Given the description of an element on the screen output the (x, y) to click on. 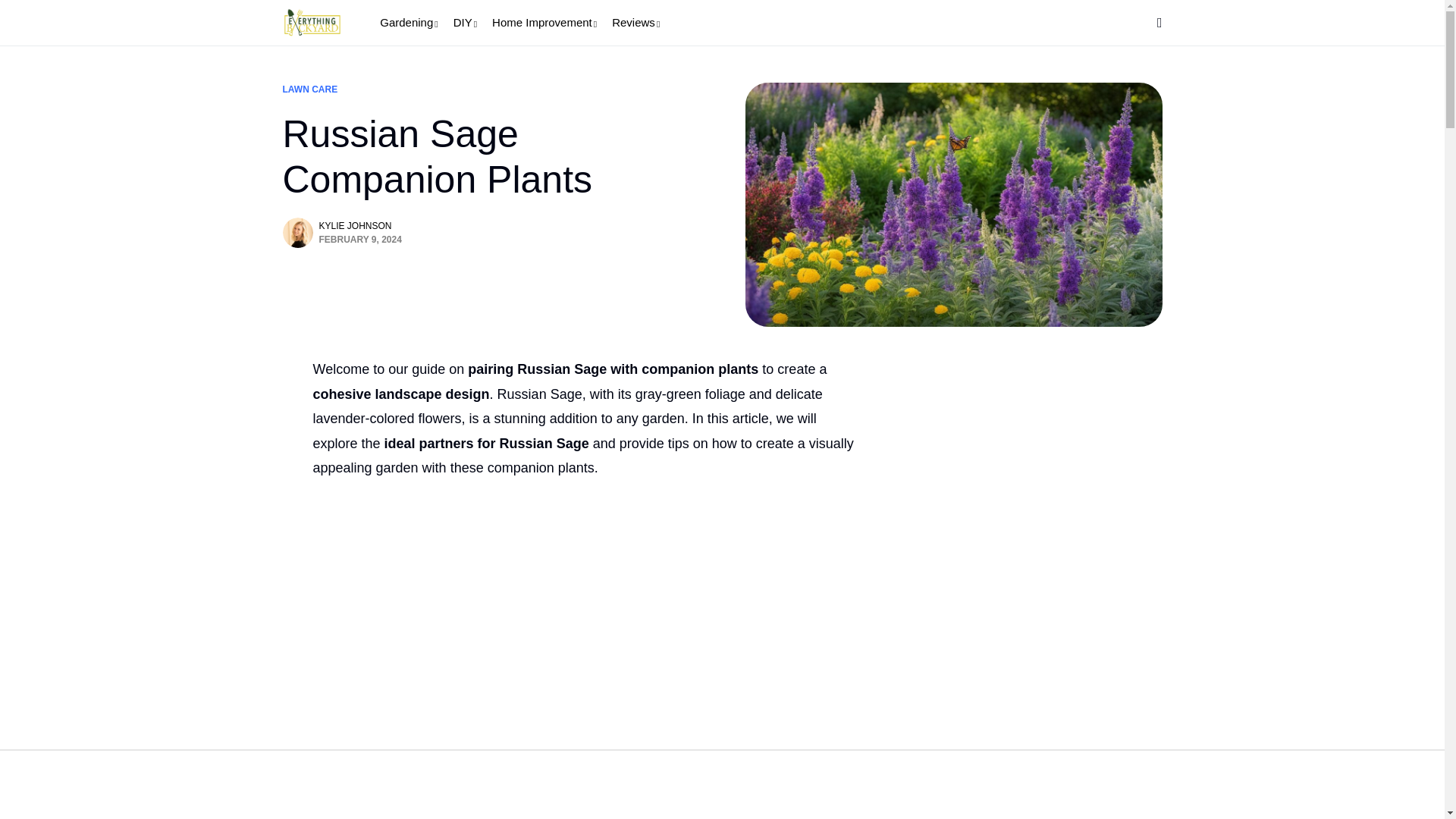
Reviews (635, 22)
Home Improvement (544, 22)
Gardening (409, 22)
